Given the description of an element on the screen output the (x, y) to click on. 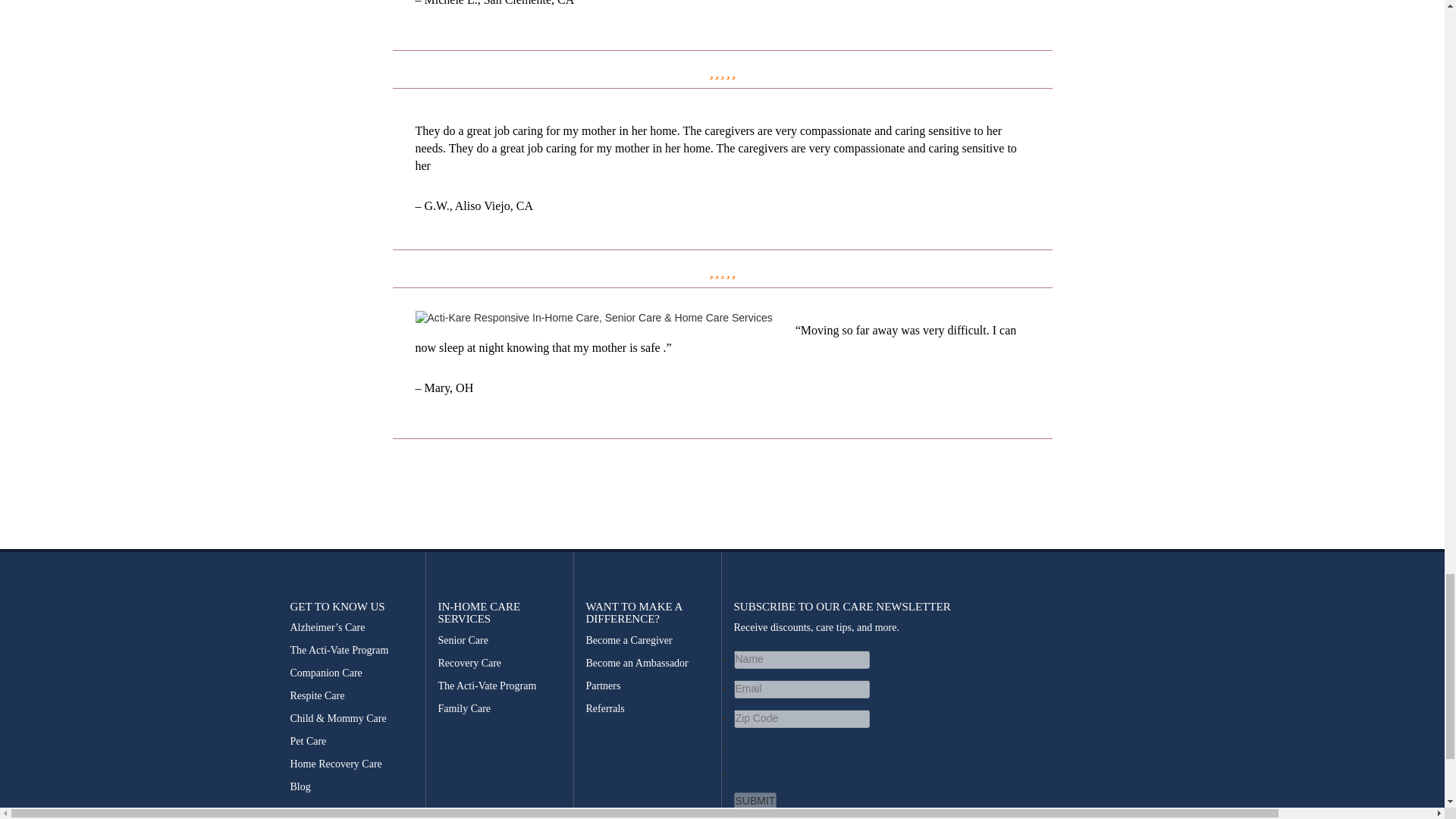
SUBMIT (755, 801)
The Acti-Vate Program (351, 650)
Companion Care (351, 672)
Respite Care (351, 695)
